Given the description of an element on the screen output the (x, y) to click on. 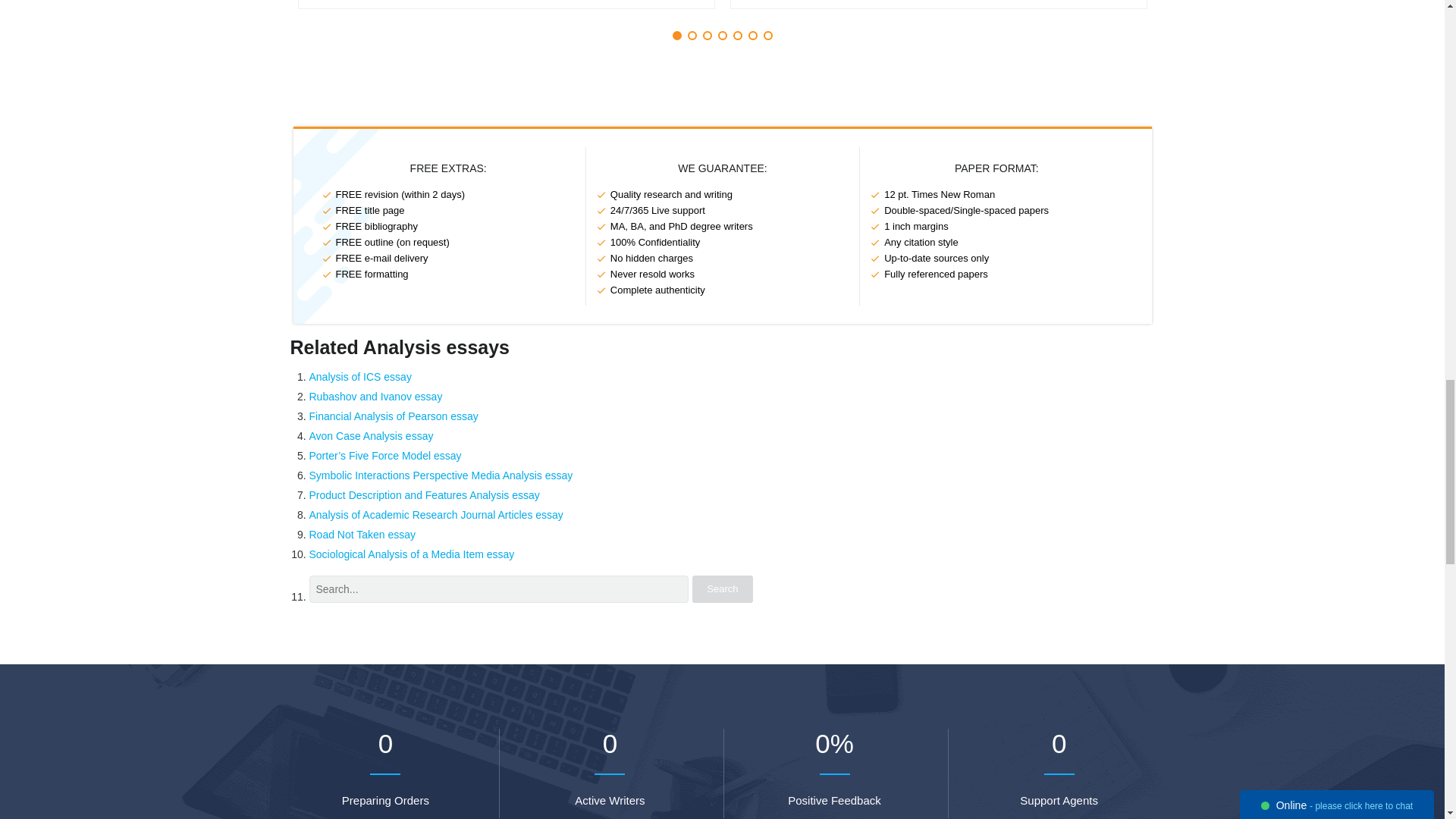
Financial Analysis of Pearson essay (393, 416)
Analysis of ICS essay (360, 377)
Search (722, 588)
Rubashov and Ivanov essay (375, 396)
